Given the description of an element on the screen output the (x, y) to click on. 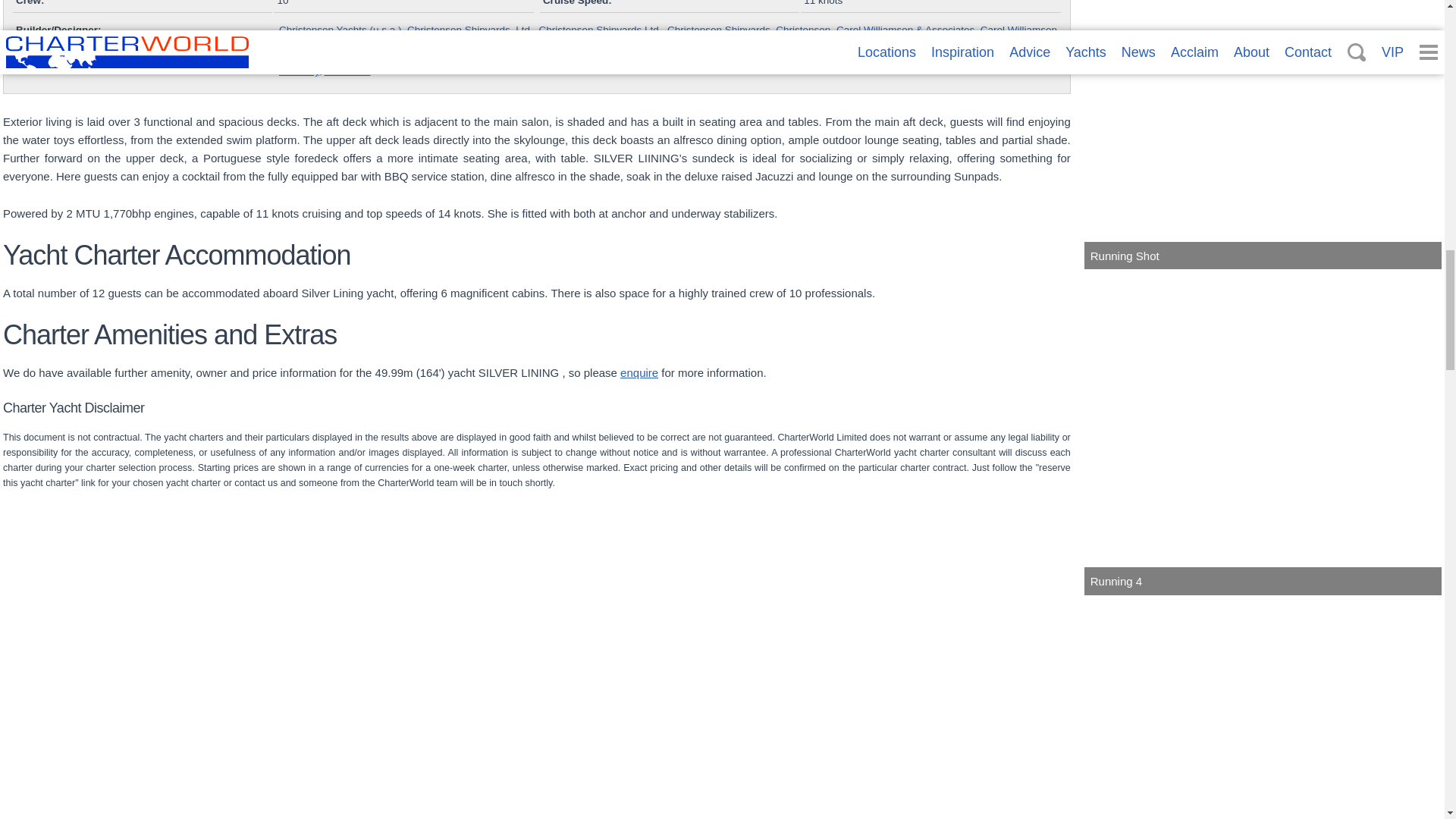
Cruising (180, 708)
Christensen Shipyards, Ltd. (469, 30)
Christensen Shipyards (718, 30)
Running 4 (1262, 432)
Cruising (180, 708)
Christensen Shipyards Ltd. (599, 30)
Alfresco Dining Upper Aft Deck (901, 708)
Running Shot (1262, 134)
Jacuzzi (1262, 708)
Directory (298, 70)
Running 3 (541, 708)
enquire (639, 372)
Christensen (802, 30)
Running 4 (1262, 432)
Running Shot (1262, 134)
